Given the description of an element on the screen output the (x, y) to click on. 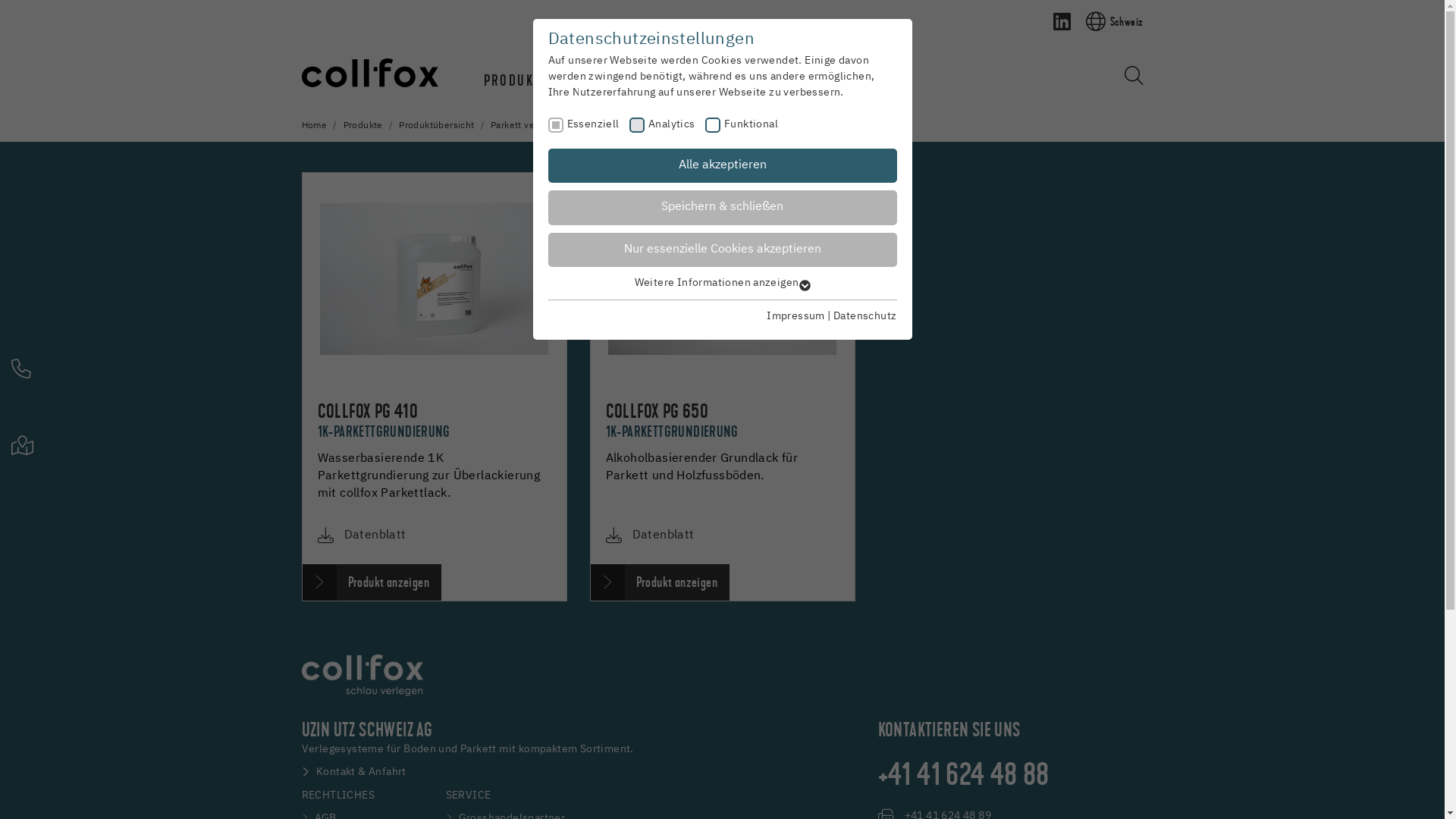
SERVICE Element type: text (604, 80)
TECHNIK Element type: text (686, 80)
Datenschutz Element type: text (864, 315)
LinkedIn Element type: hover (1061, 21)
Kontakt & Anfahrt Element type: text (353, 771)
Datenblatt Element type: text (663, 535)
Nur essenzielle Cookies akzeptieren Element type: text (721, 249)
Alle akzeptieren Element type: text (721, 165)
Produkt anzeigen Element type: text (658, 582)
Produkt anzeigen Element type: text (370, 582)
Weitere Informationen anzeigen Element type: text (721, 282)
COLLFOX PG 410
1K-PARKETTGRUNDIERUNG Element type: text (382, 425)
+41 41 624 48 88 Element type: text (963, 774)
Impressum Element type: text (795, 315)
Schweiz Element type: text (1108, 21)
Home Element type: text (314, 125)
Parkett veredeln Element type: text (526, 125)
Produkte Element type: text (362, 125)
PRODUKTE Element type: text (514, 80)
COLLFOX PG 650
1K-PARKETTGRUNDIERUNG Element type: text (671, 425)
Datenblatt Element type: text (375, 535)
